Given the description of an element on the screen output the (x, y) to click on. 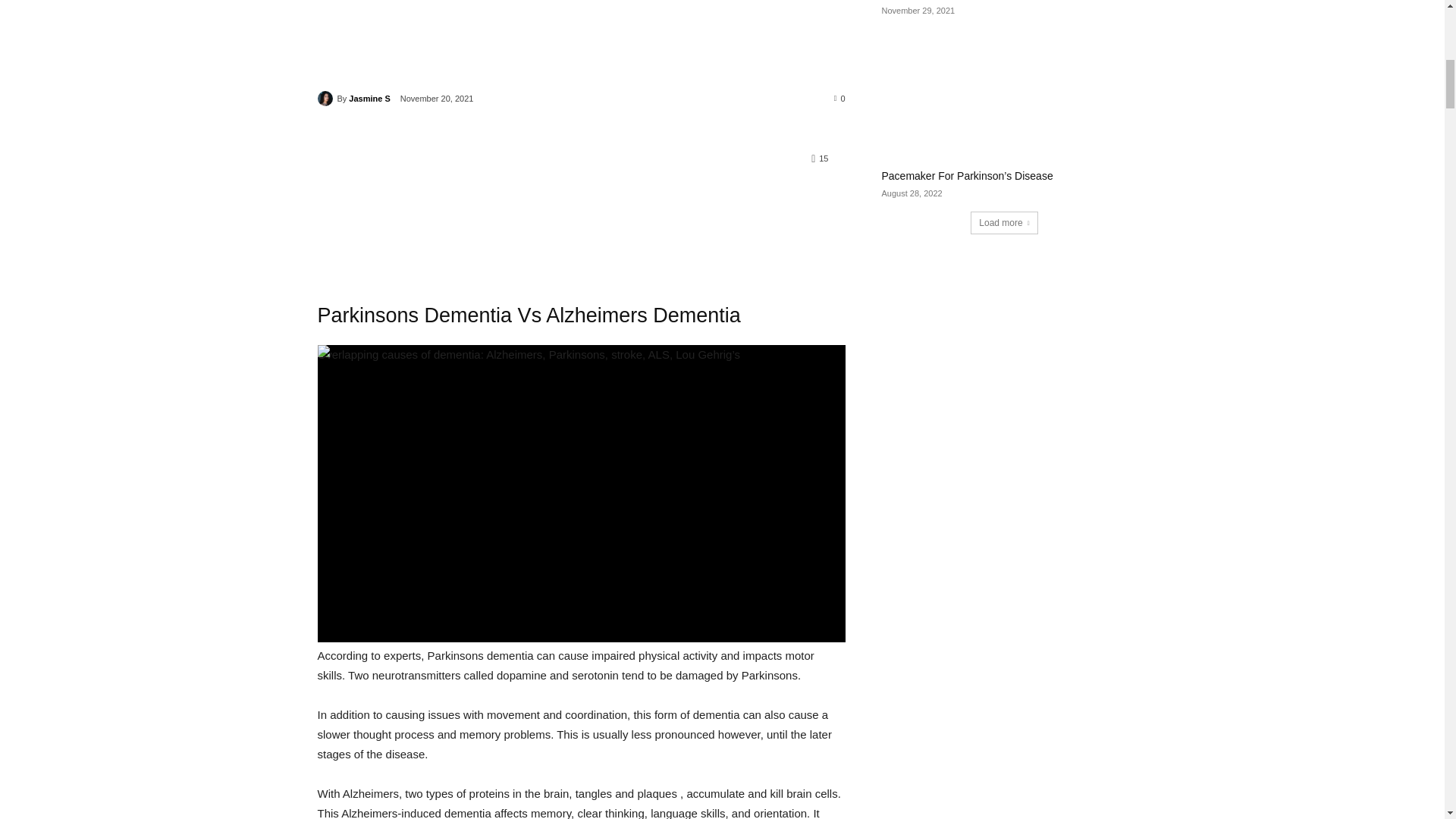
Jasmine S (326, 98)
Advertisement (580, 43)
